Given the description of an element on the screen output the (x, y) to click on. 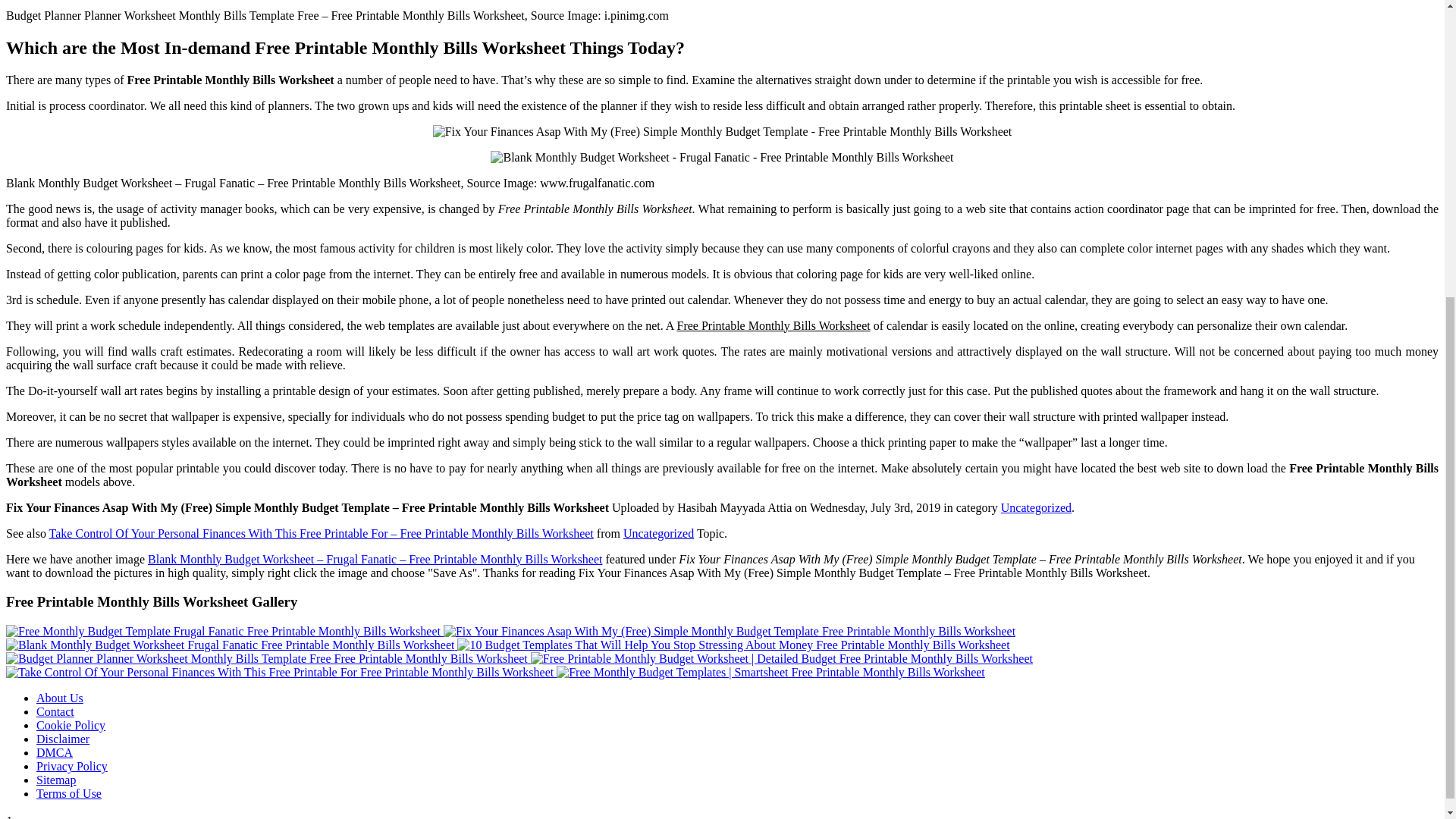
About Us (59, 697)
Disclaimer (62, 738)
Contact (55, 711)
Privacy Policy (71, 766)
DMCA (54, 752)
Uncategorized (1036, 507)
